Given the description of an element on the screen output the (x, y) to click on. 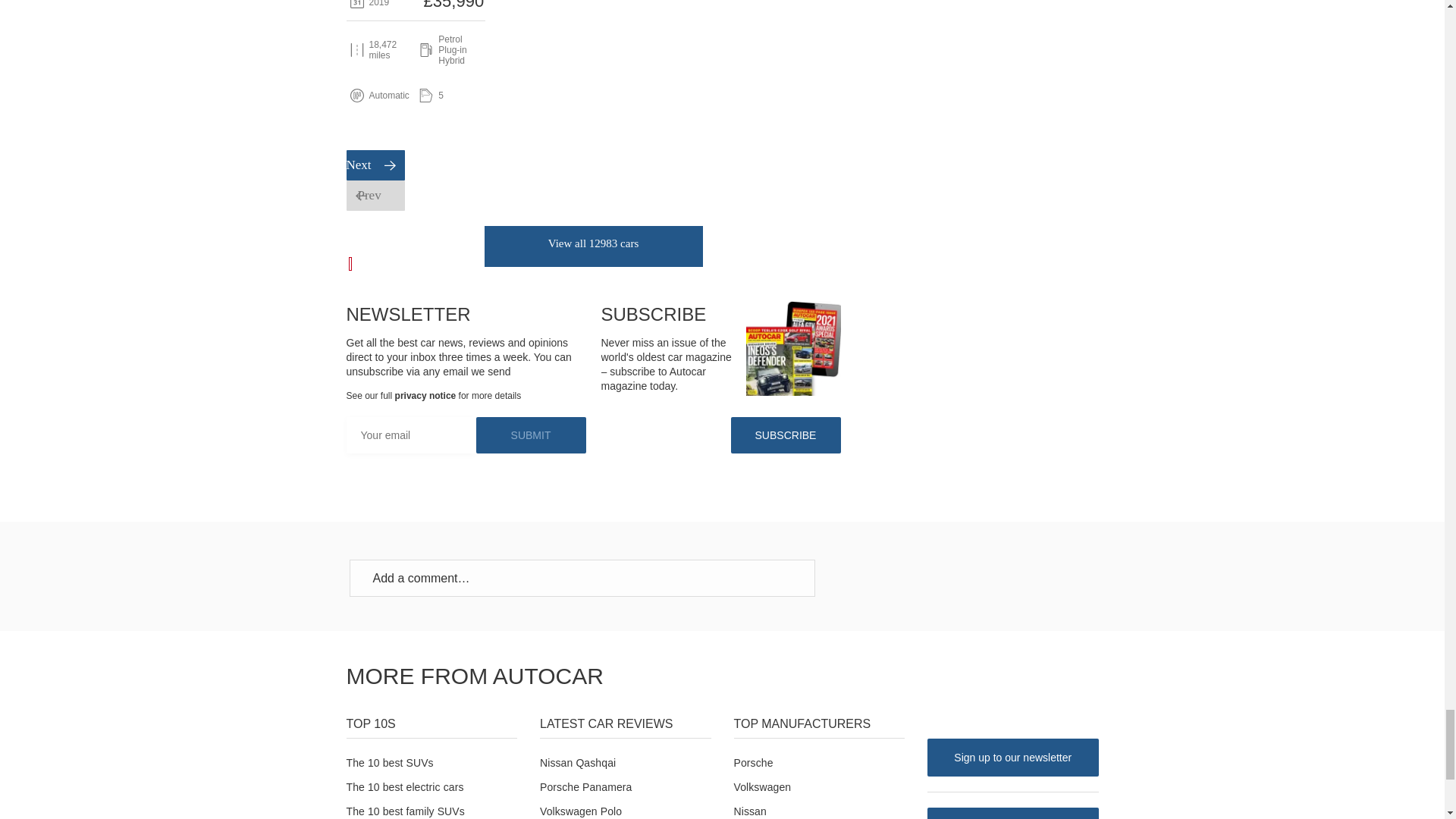
Submit (531, 434)
